Given the description of an element on the screen output the (x, y) to click on. 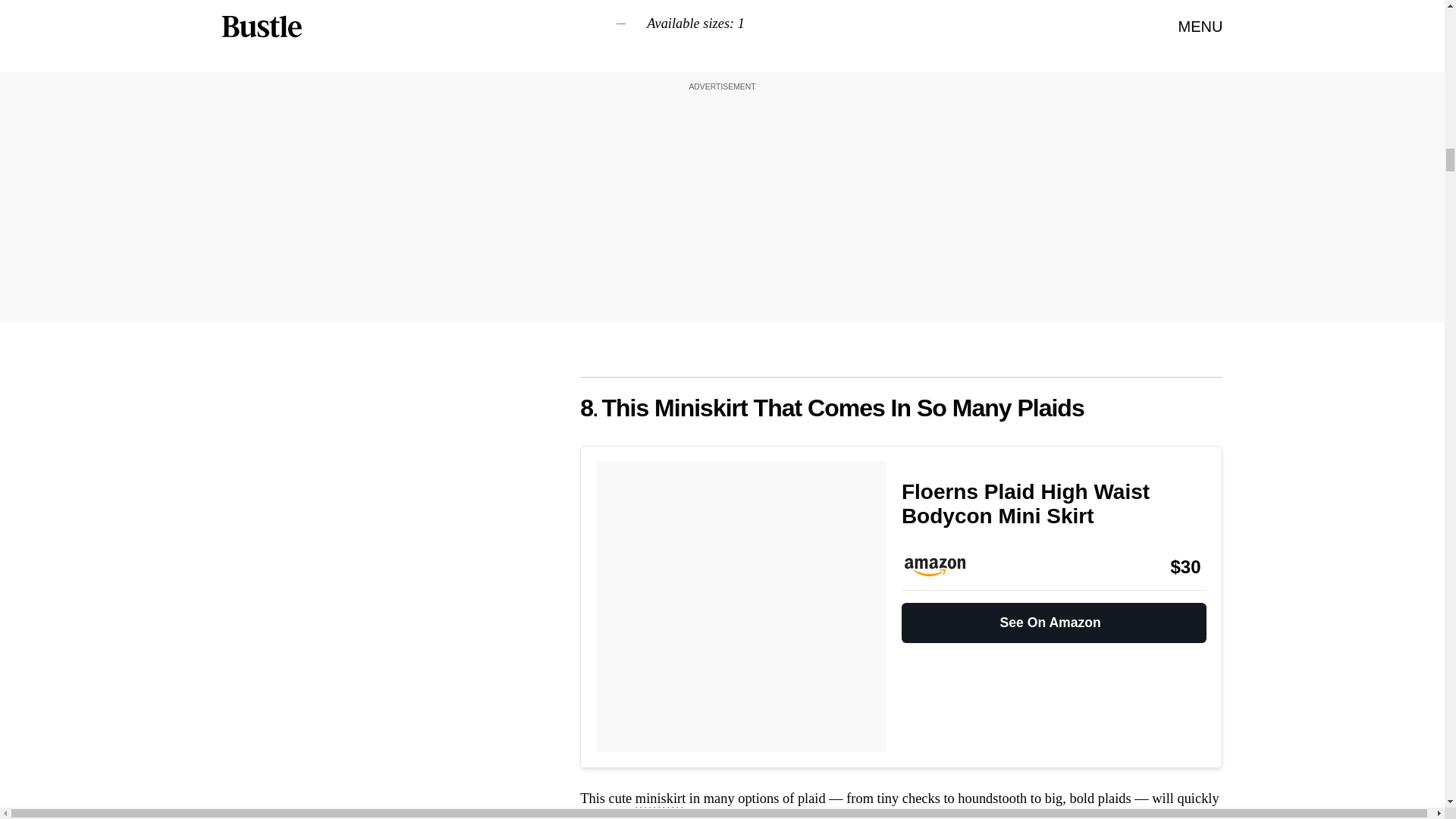
Amazon (941, 566)
miniskirt (659, 800)
See On Amazon (1054, 615)
